Given the description of an element on the screen output the (x, y) to click on. 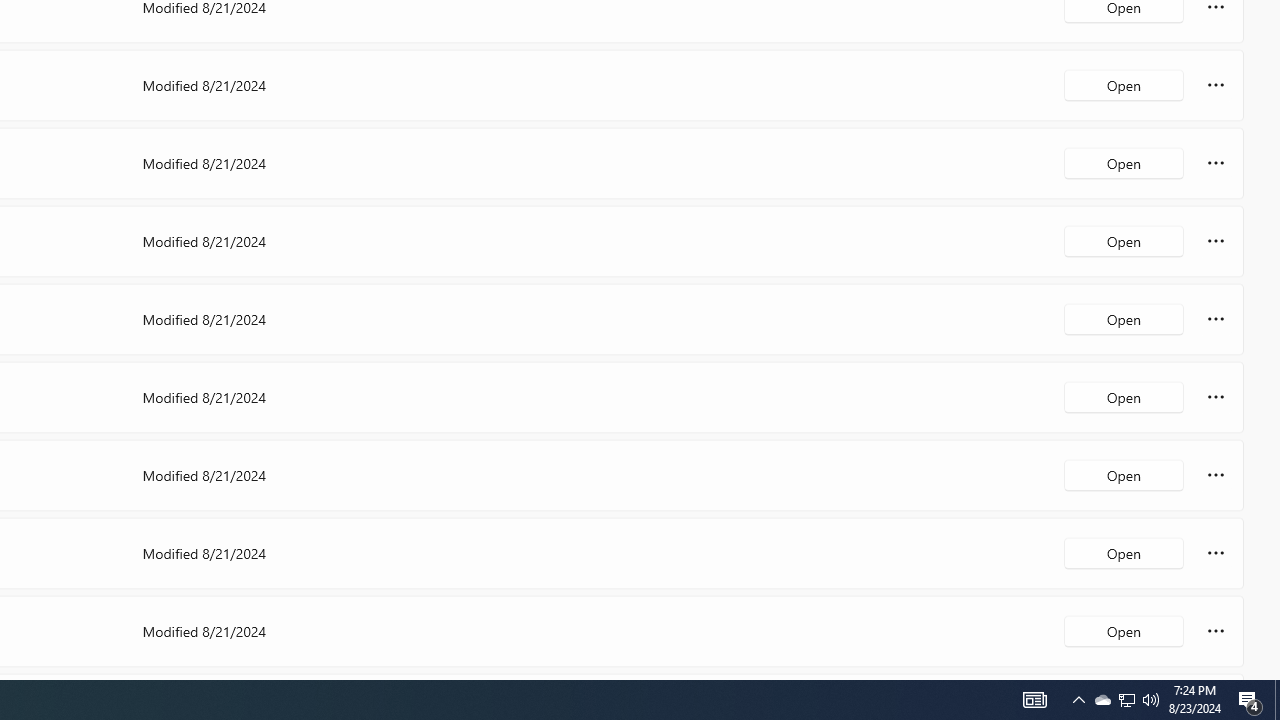
Open (1123, 630)
More options (1215, 630)
